Given the description of an element on the screen output the (x, y) to click on. 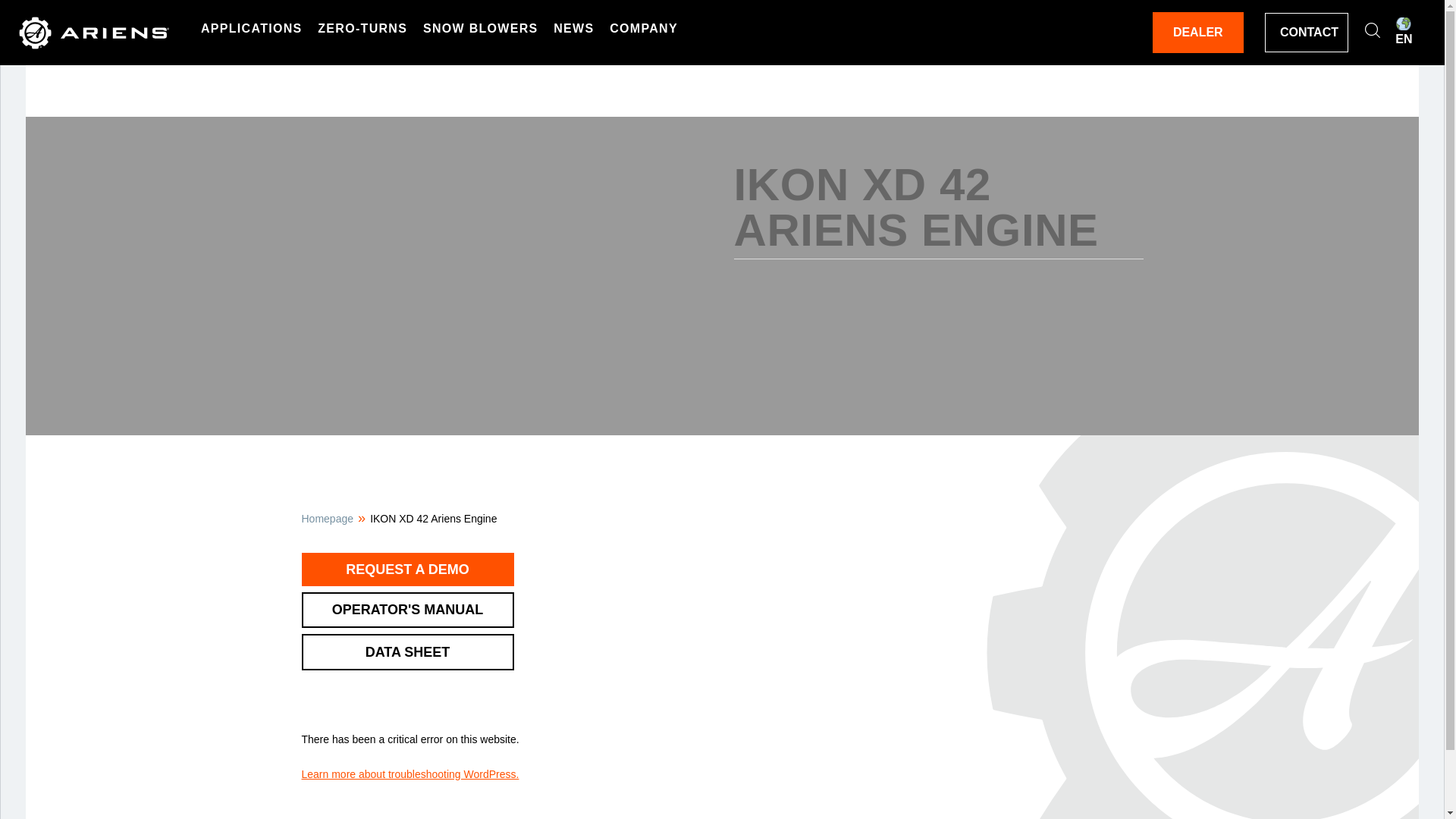
Zero-Turns (362, 28)
APPLICATIONS (251, 28)
Applications (251, 28)
ZERO-TURNS (362, 28)
